Given the description of an element on the screen output the (x, y) to click on. 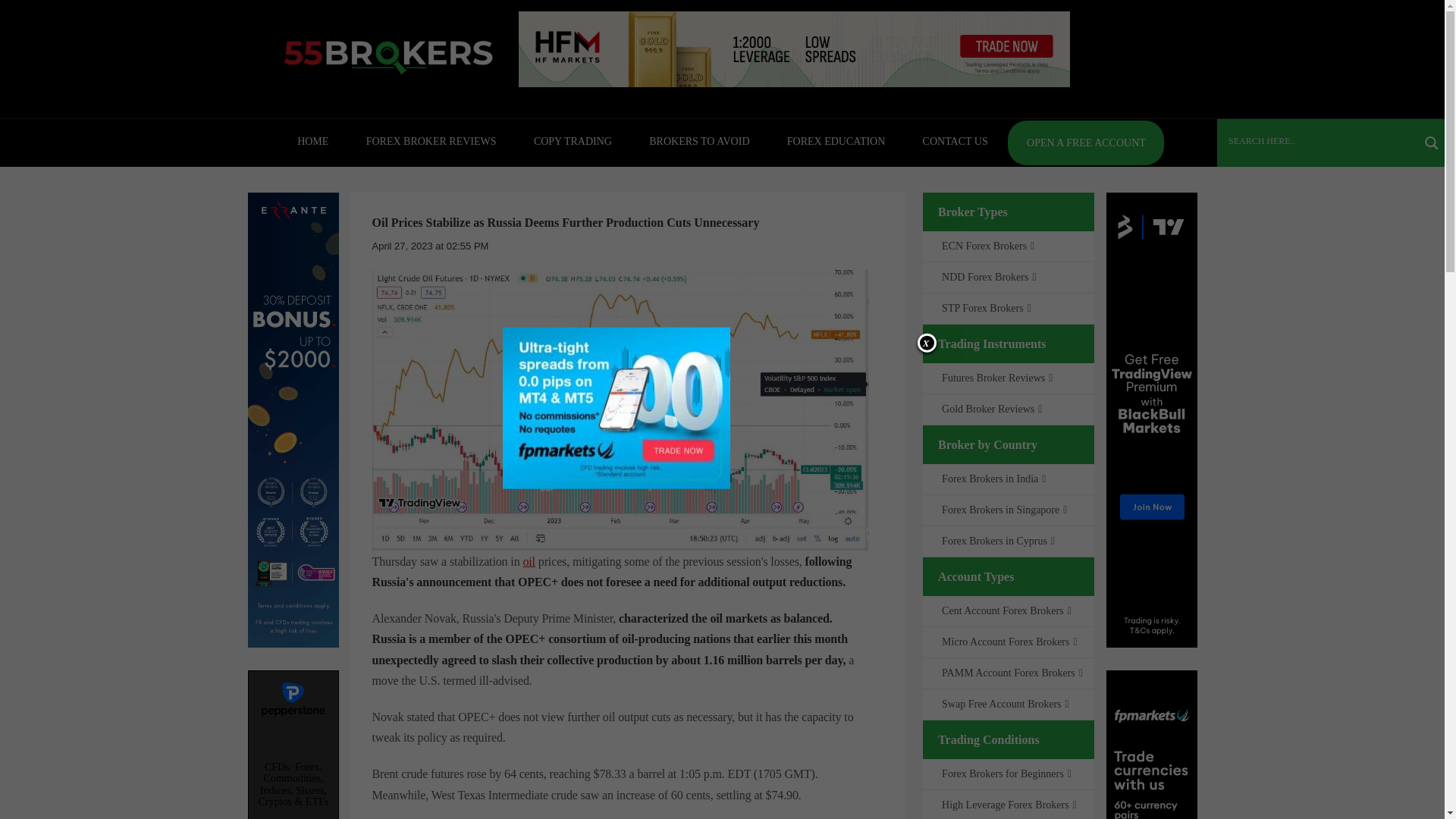
Forex Brokers in Singapore (1002, 509)
Swap Free Account Brokers (1003, 704)
advertisement (292, 744)
Gold Broker Reviews (990, 408)
NDD Forex Brokers (987, 276)
Cent Account Forex Brokers (1004, 610)
FOREX EDUCATION (836, 141)
Futures Broker Reviews (995, 378)
Forex Brokers in Cyprus (996, 541)
HOME (313, 141)
STP Forex Brokers (984, 307)
Forex Brokers for Beginners (1004, 773)
FOREX BROKER REVIEWS (431, 141)
Click here to close this box. (926, 342)
COPY TRADING (572, 141)
